Given the description of an element on the screen output the (x, y) to click on. 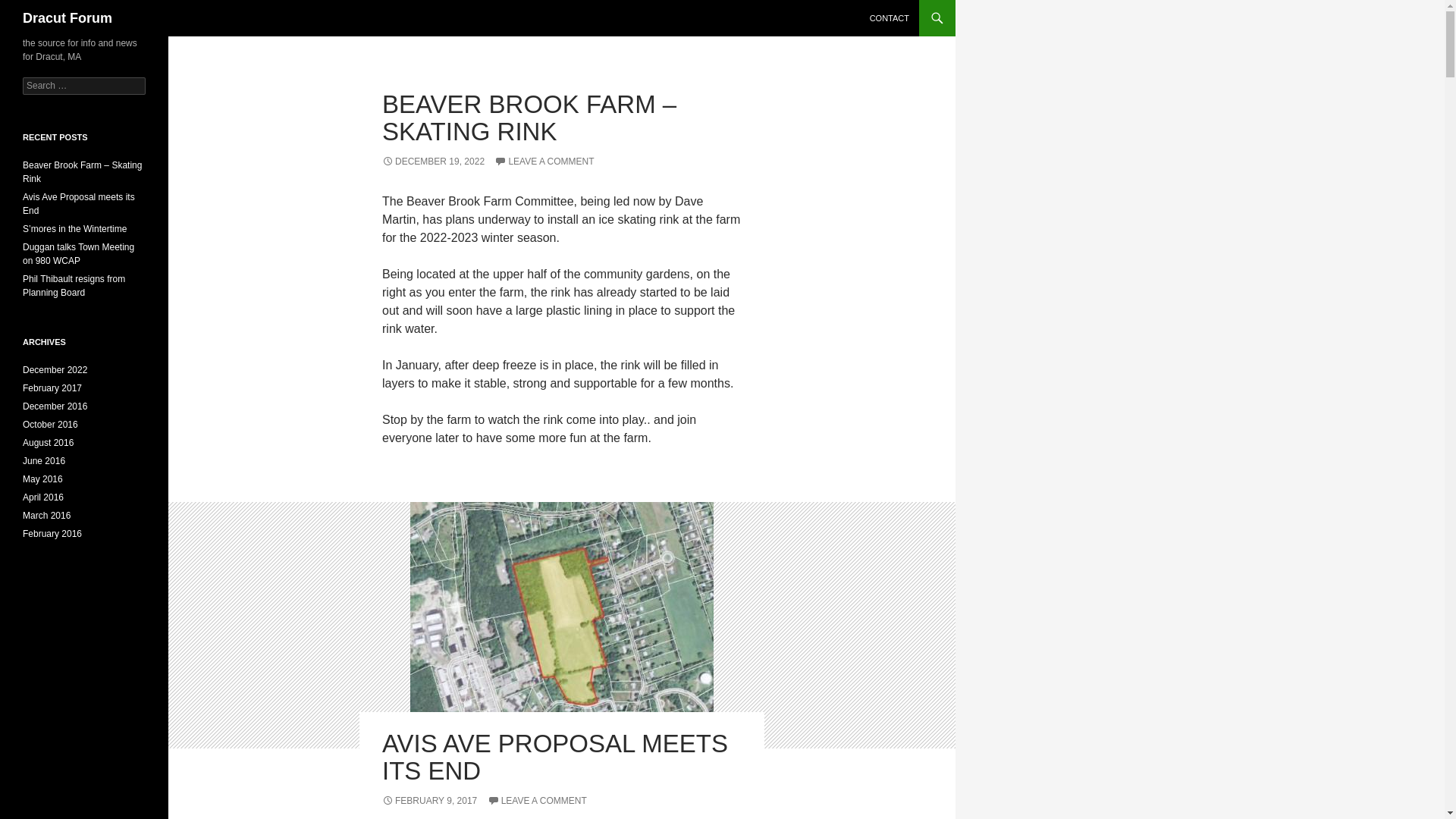
LEAVE A COMMENT (544, 161)
DECEMBER 19, 2022 (432, 161)
CONTACT (889, 18)
LEAVE A COMMENT (536, 800)
FEBRUARY 9, 2017 (429, 800)
Dracut Forum (67, 18)
AVIS AVE PROPOSAL MEETS ITS END (554, 756)
